Given the description of an element on the screen output the (x, y) to click on. 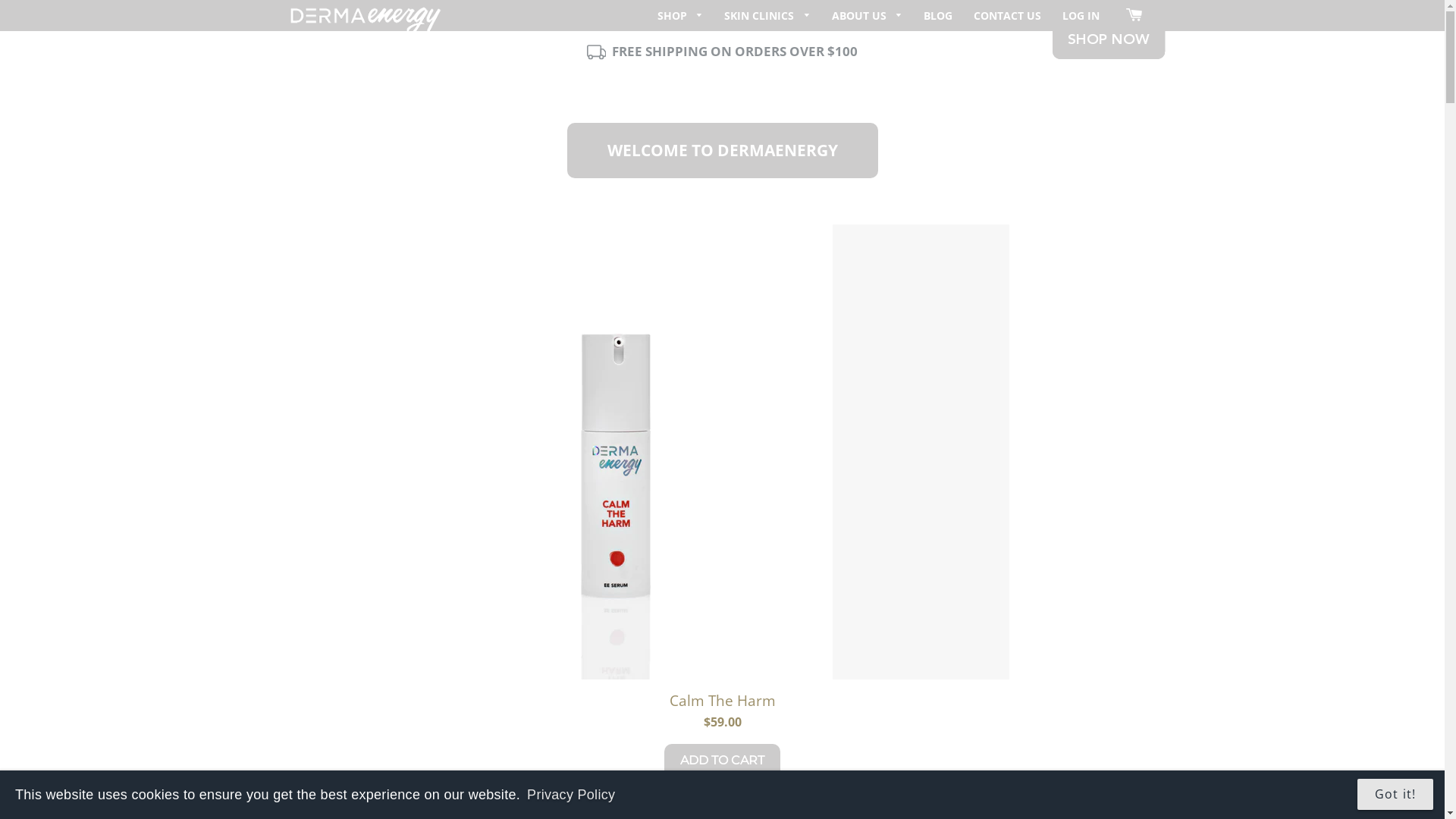
ABOUT US Element type: text (867, 15)
LOG IN Element type: text (1080, 15)
SHOP Element type: text (680, 15)
Add To Cart Element type: text (722, 760)
SKIN CLINICS Element type: text (767, 15)
Calm The Harm
$59.00 Element type: text (722, 711)
BLOG Element type: text (937, 15)
CONTACT US Element type: text (1007, 15)
SHOP NOW Element type: text (1108, 40)
